Given the description of an element on the screen output the (x, y) to click on. 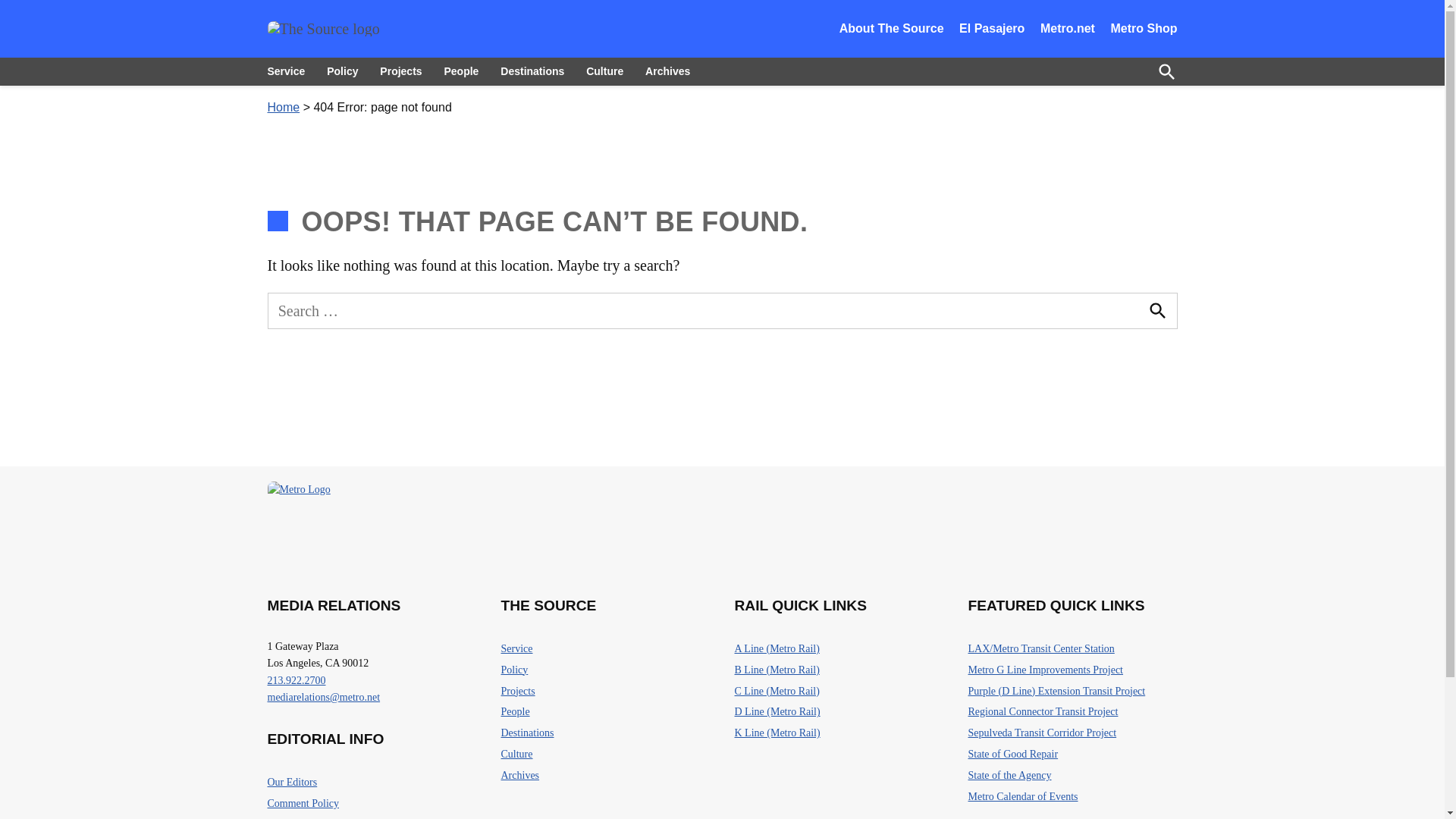
Metro Shop (1142, 28)
About The Source (891, 28)
Search (1156, 310)
Comment Policy (302, 803)
El Pasajero (992, 28)
People (461, 71)
Privacy Policy (297, 816)
Archives (667, 71)
Home (282, 106)
Service (516, 648)
